Given the description of an element on the screen output the (x, y) to click on. 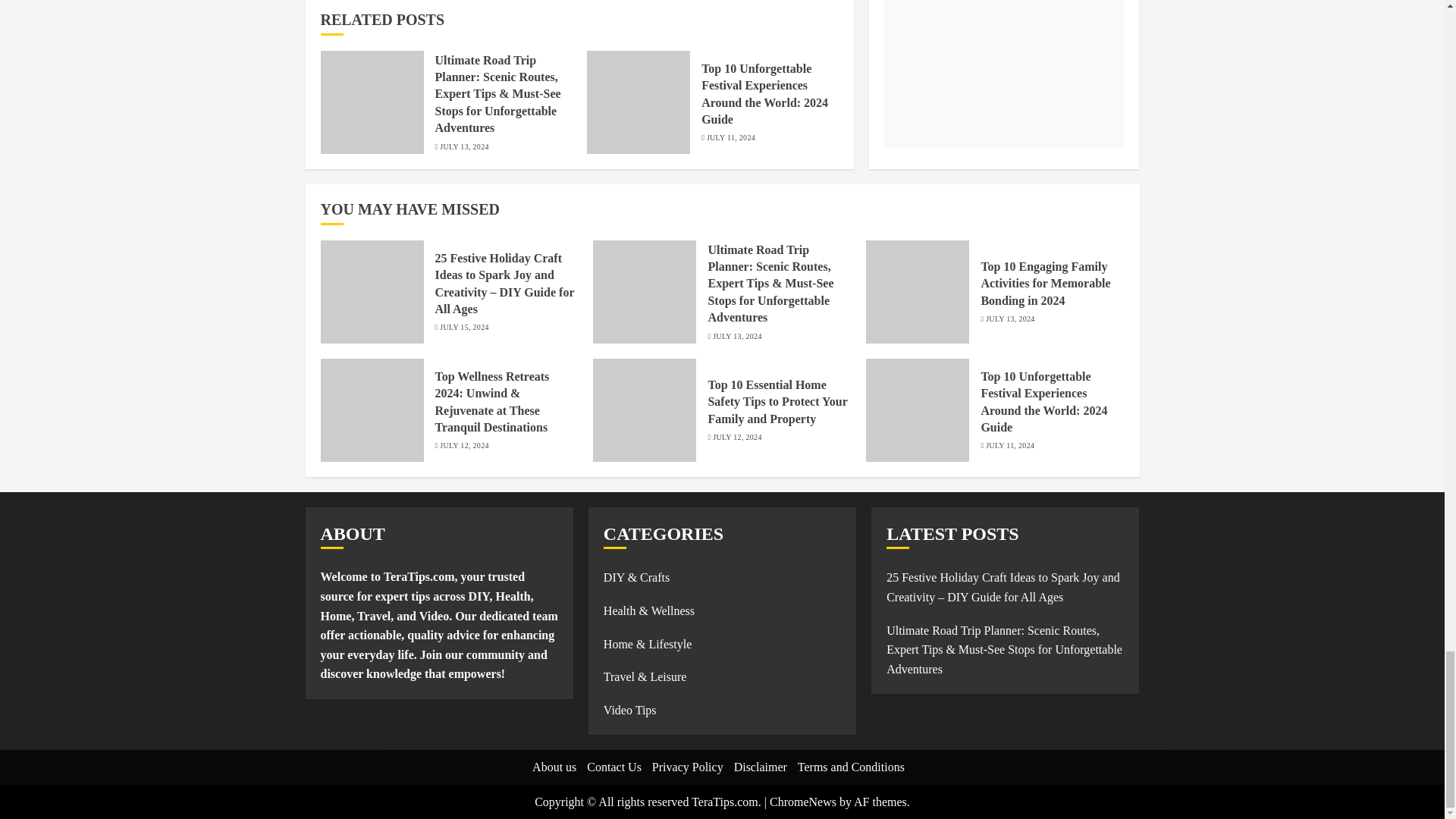
JULY 11, 2024 (730, 137)
JULY 13, 2024 (463, 146)
